Given the description of an element on the screen output the (x, y) to click on. 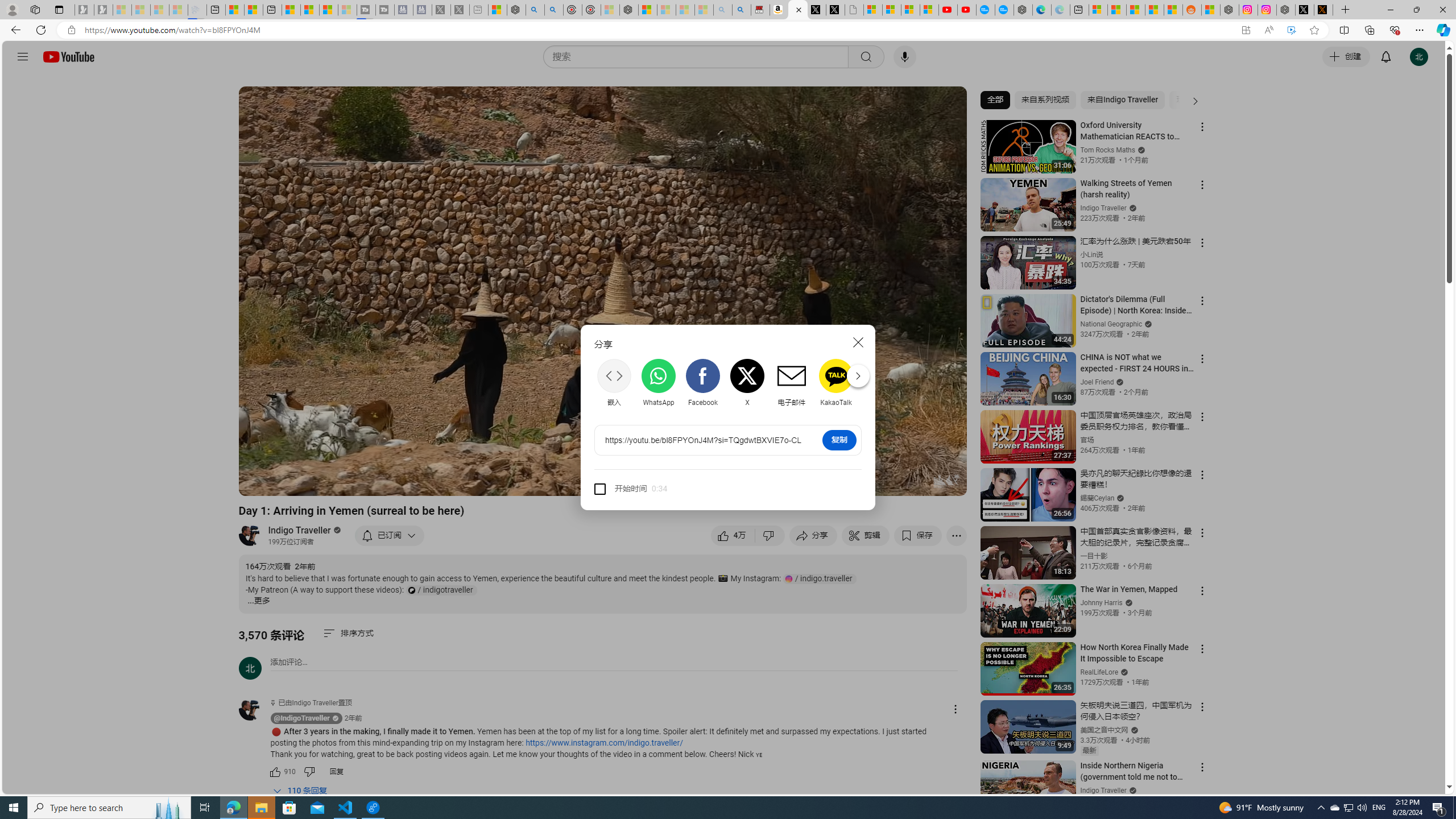
KakaoTalk (836, 383)
KakaoTalk (836, 382)
